Given the description of an element on the screen output the (x, y) to click on. 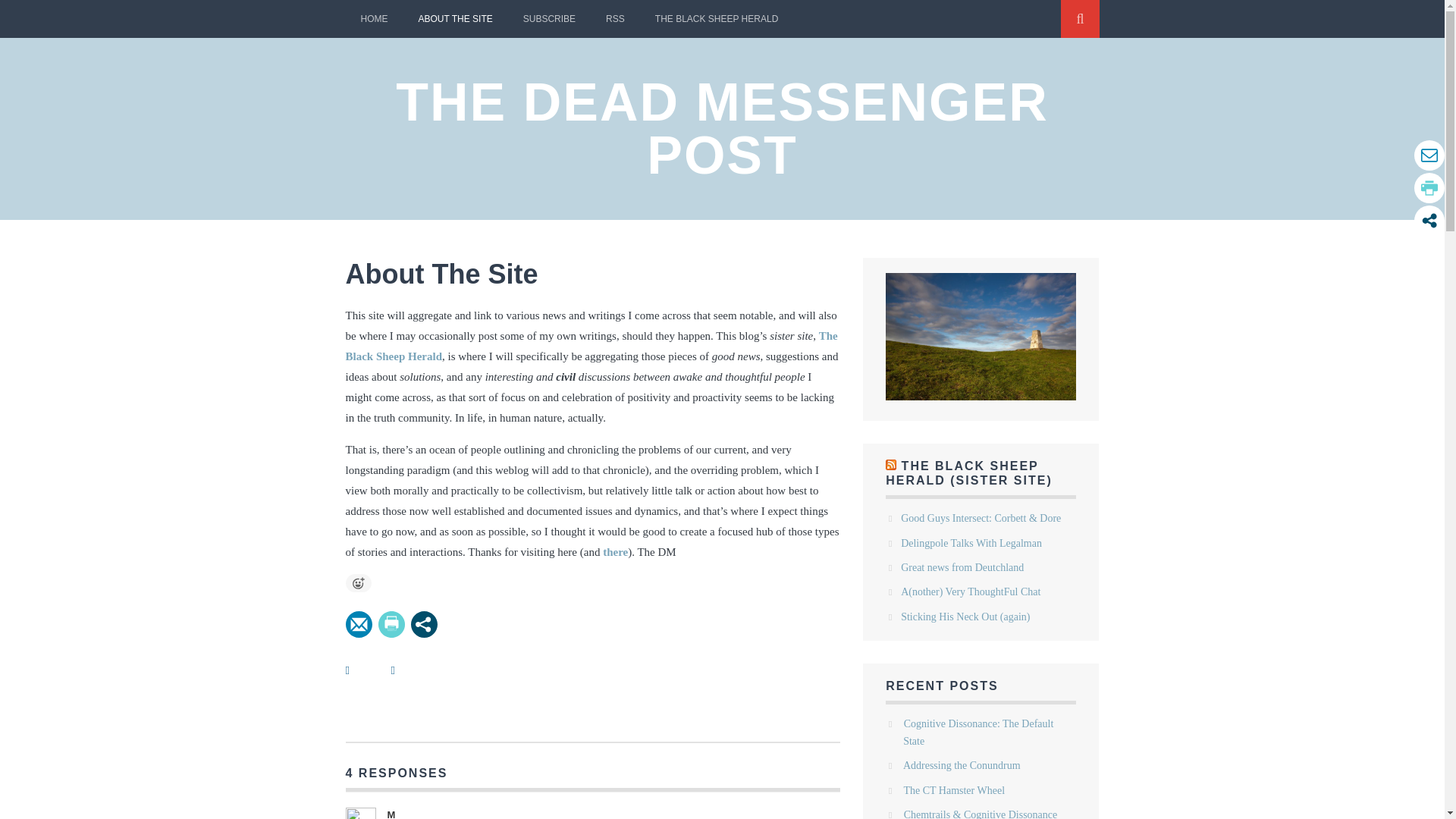
Open modal social networks (424, 624)
The Black Sheep Herald (592, 346)
Cognitive Dissonance: The Default State (977, 732)
ABOUT THE SITE (455, 18)
there (614, 551)
Delingpole Talks With Legalman (971, 542)
Great news from Deutchland (962, 567)
RSS (615, 18)
Send by email (359, 624)
Photo by Dale Stephens (980, 336)
